Given the description of an element on the screen output the (x, y) to click on. 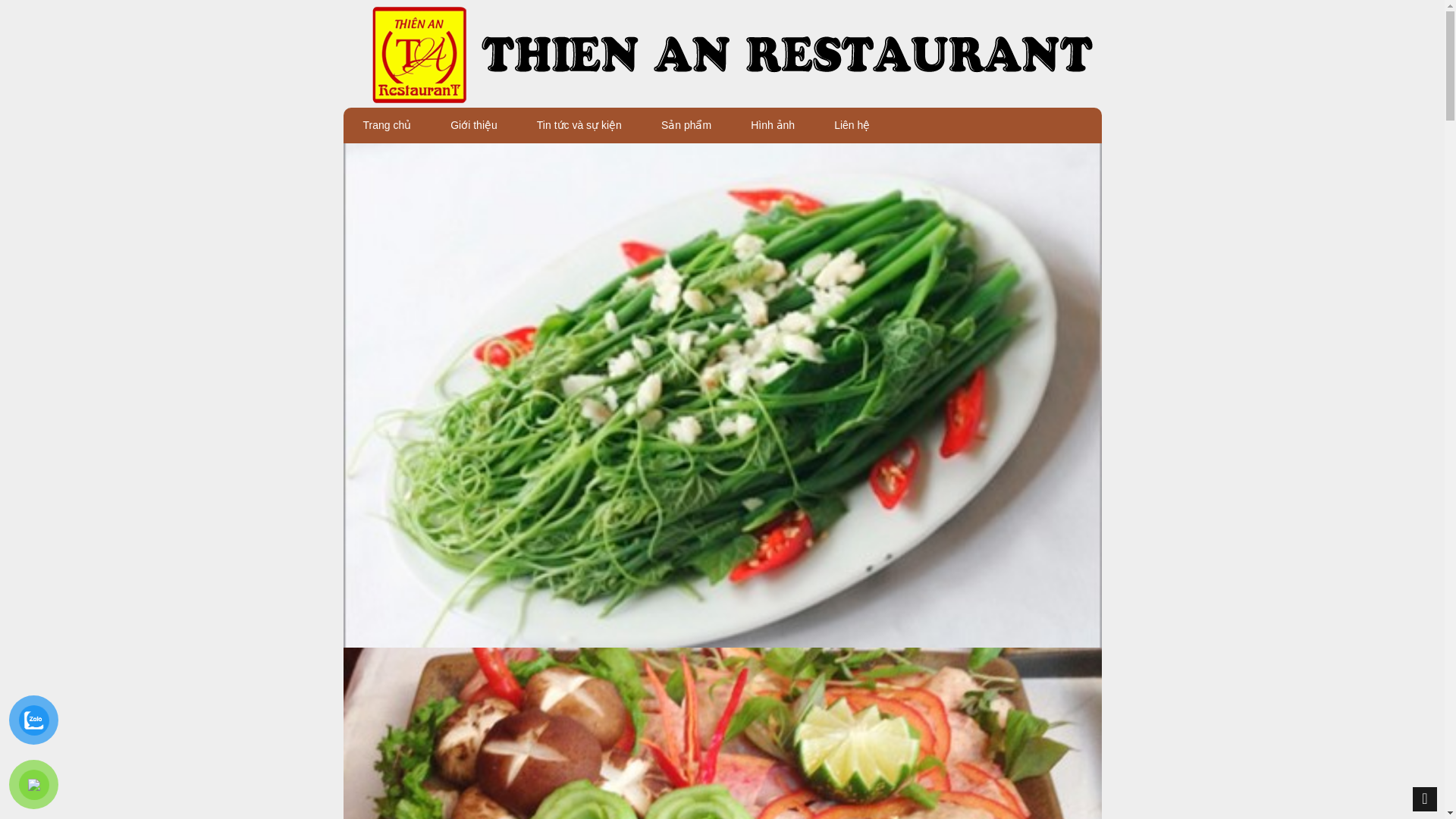
Thien An Restaurant (721, 53)
